Given the description of an element on the screen output the (x, y) to click on. 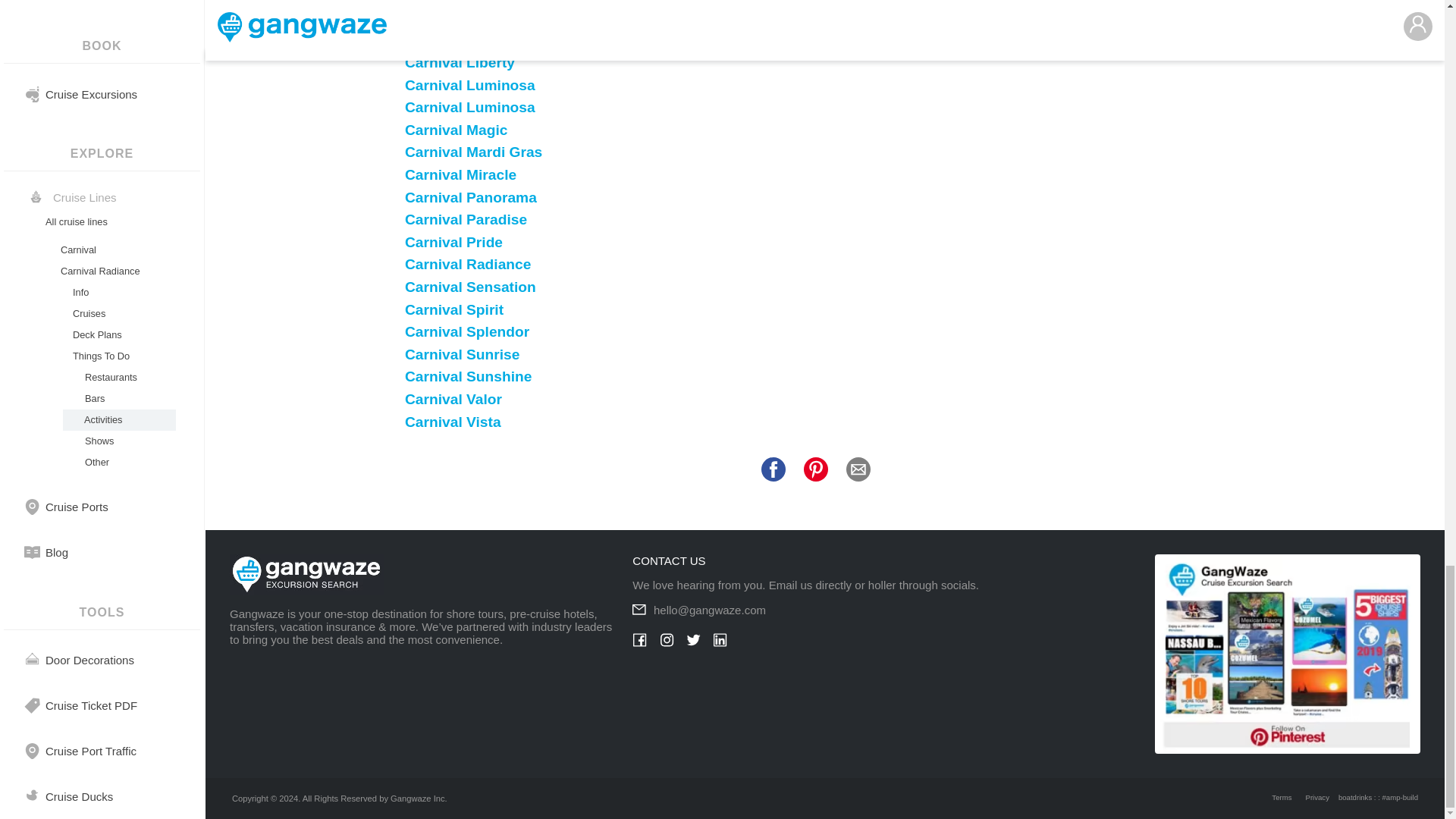
Carnival Horizon (461, 1)
Carnival Legend (461, 39)
Carnival Liberty (459, 62)
Carnival Jubilee (460, 17)
